Given the description of an element on the screen output the (x, y) to click on. 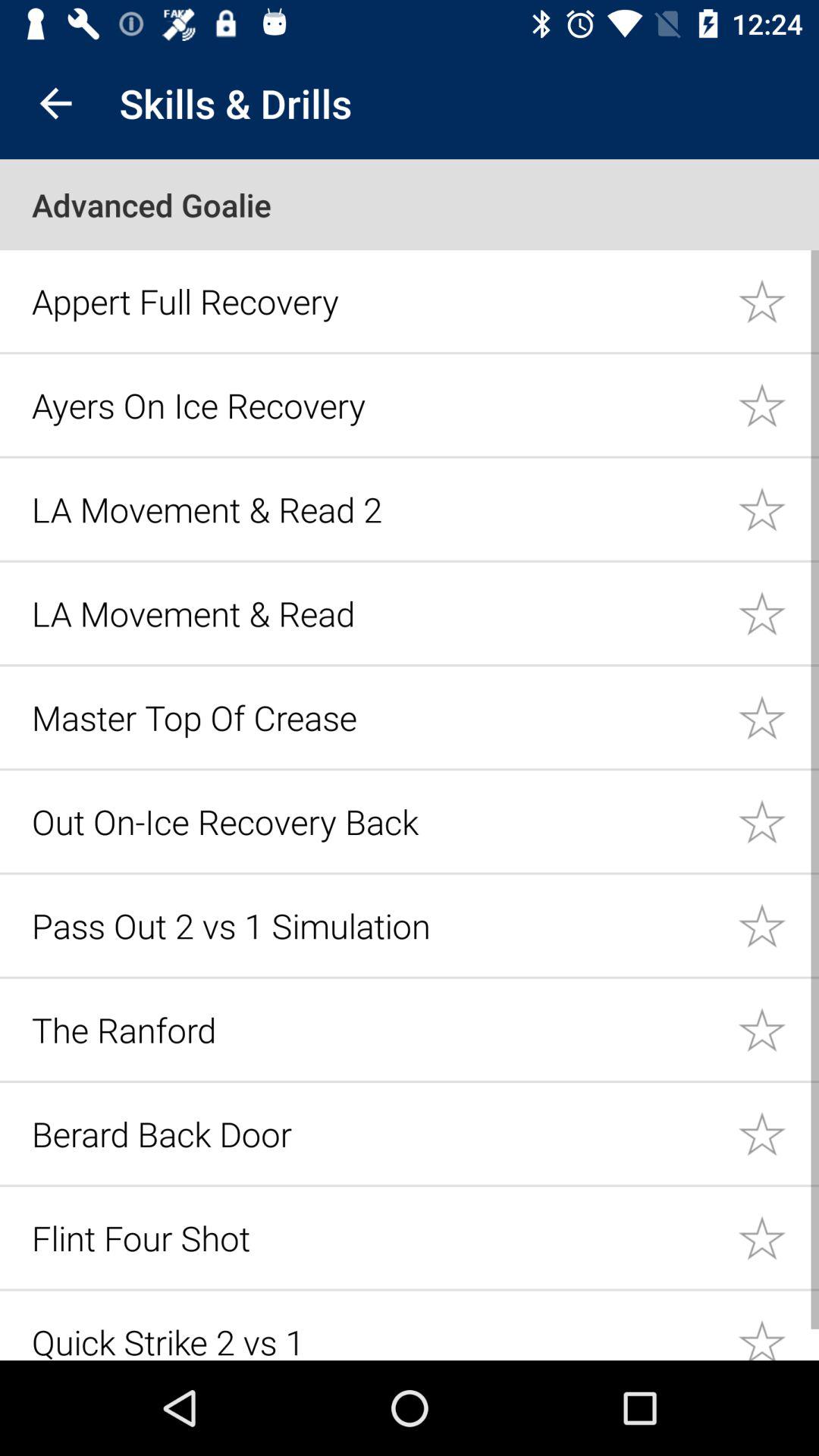
tap icon to the left of the skills & drills (55, 103)
